Given the description of an element on the screen output the (x, y) to click on. 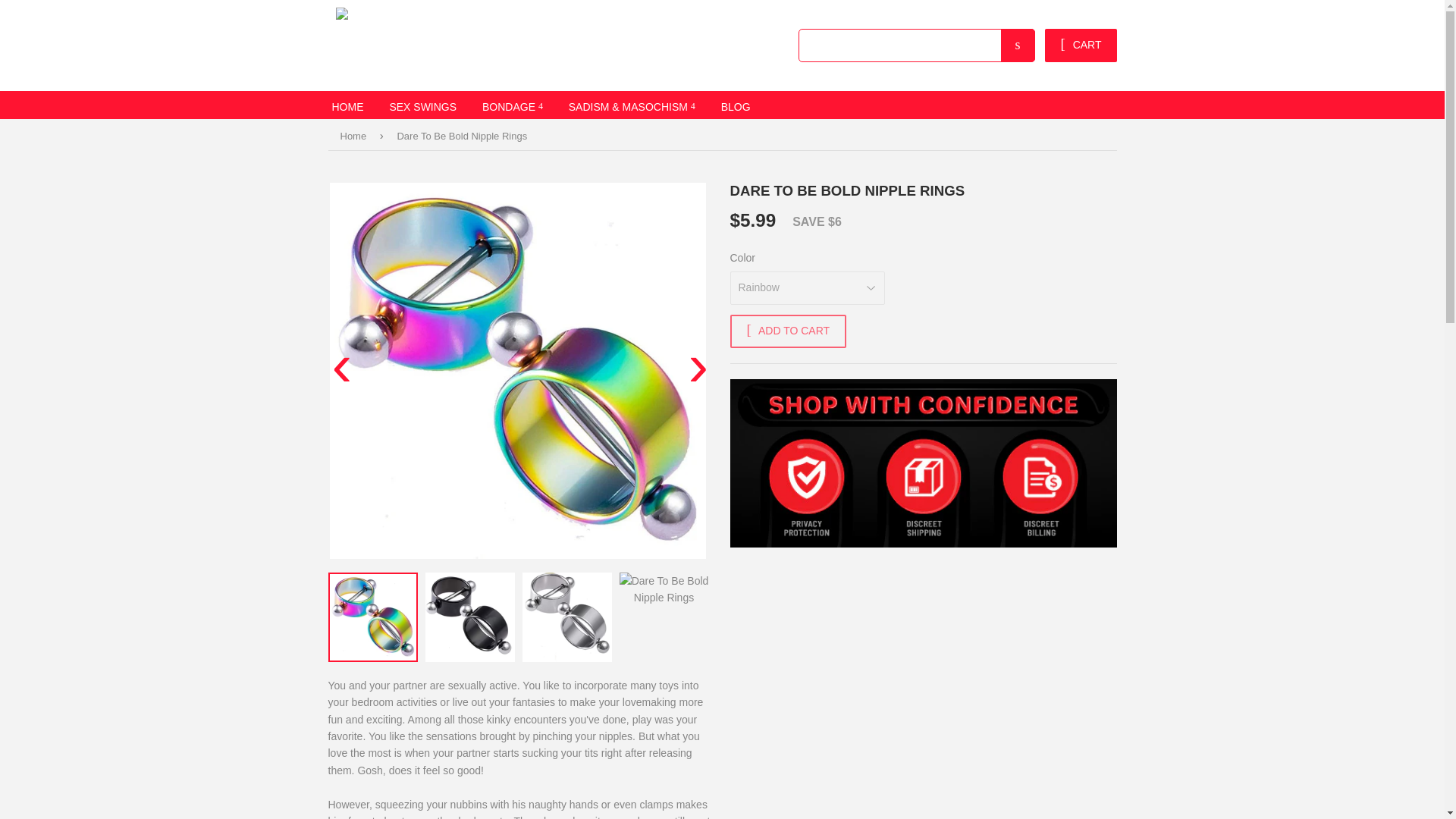
BONDAGE (512, 104)
Back to the frontpage (355, 135)
HOME (347, 104)
CART (1080, 45)
Search (1018, 45)
BLOG (735, 104)
SEX SWINGS (422, 104)
